Given the description of an element on the screen output the (x, y) to click on. 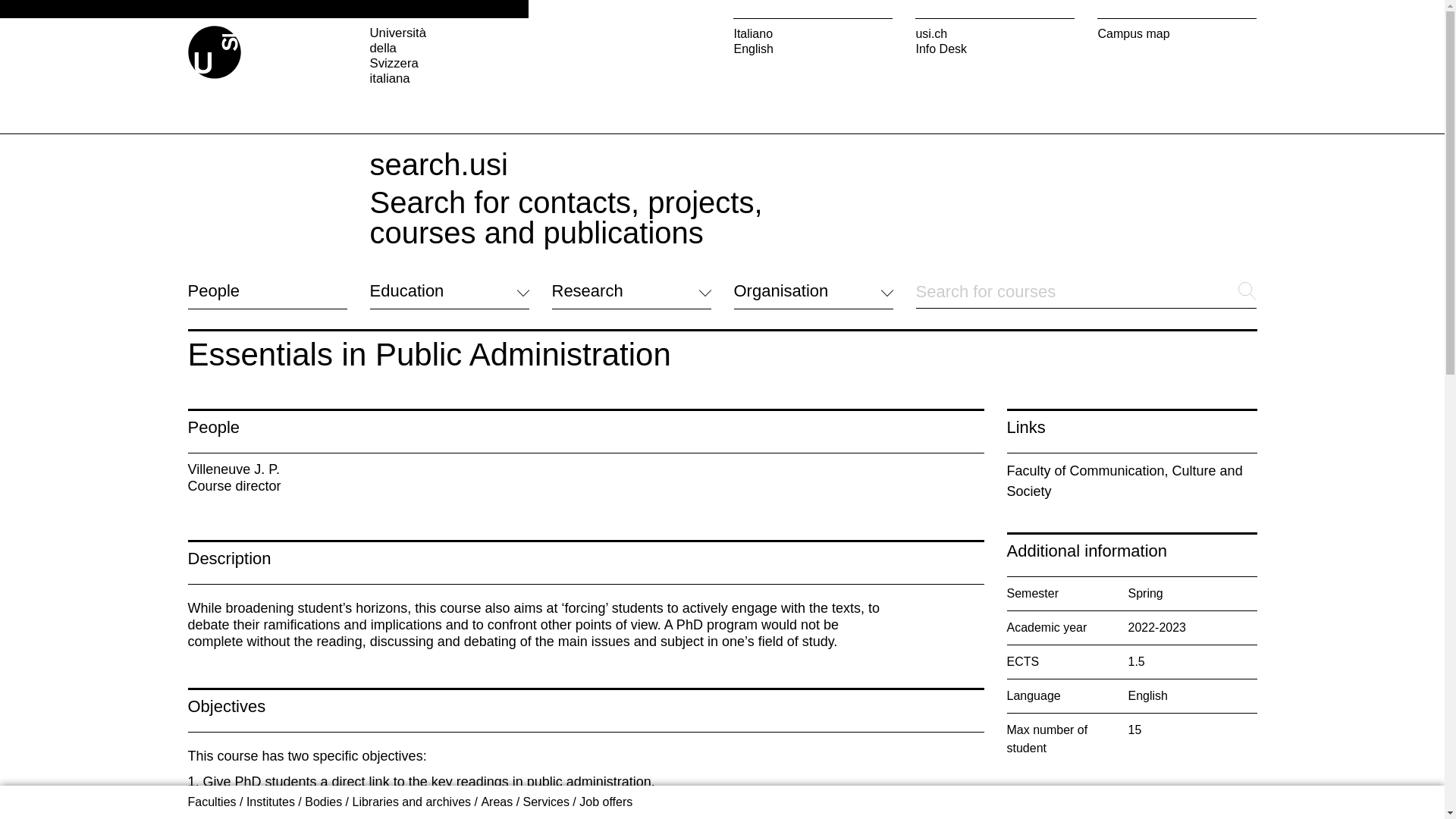
Annual Report (771, 686)
Lugano Campus (595, 642)
Subscribe (760, 704)
search.usi (438, 164)
Italiano (812, 33)
Campus map (1176, 33)
usi.ch (994, 33)
Other contacts (226, 707)
Bellinzona Campus (603, 678)
Faculty of Communication, Culture and Society (1132, 480)
